Given the description of an element on the screen output the (x, y) to click on. 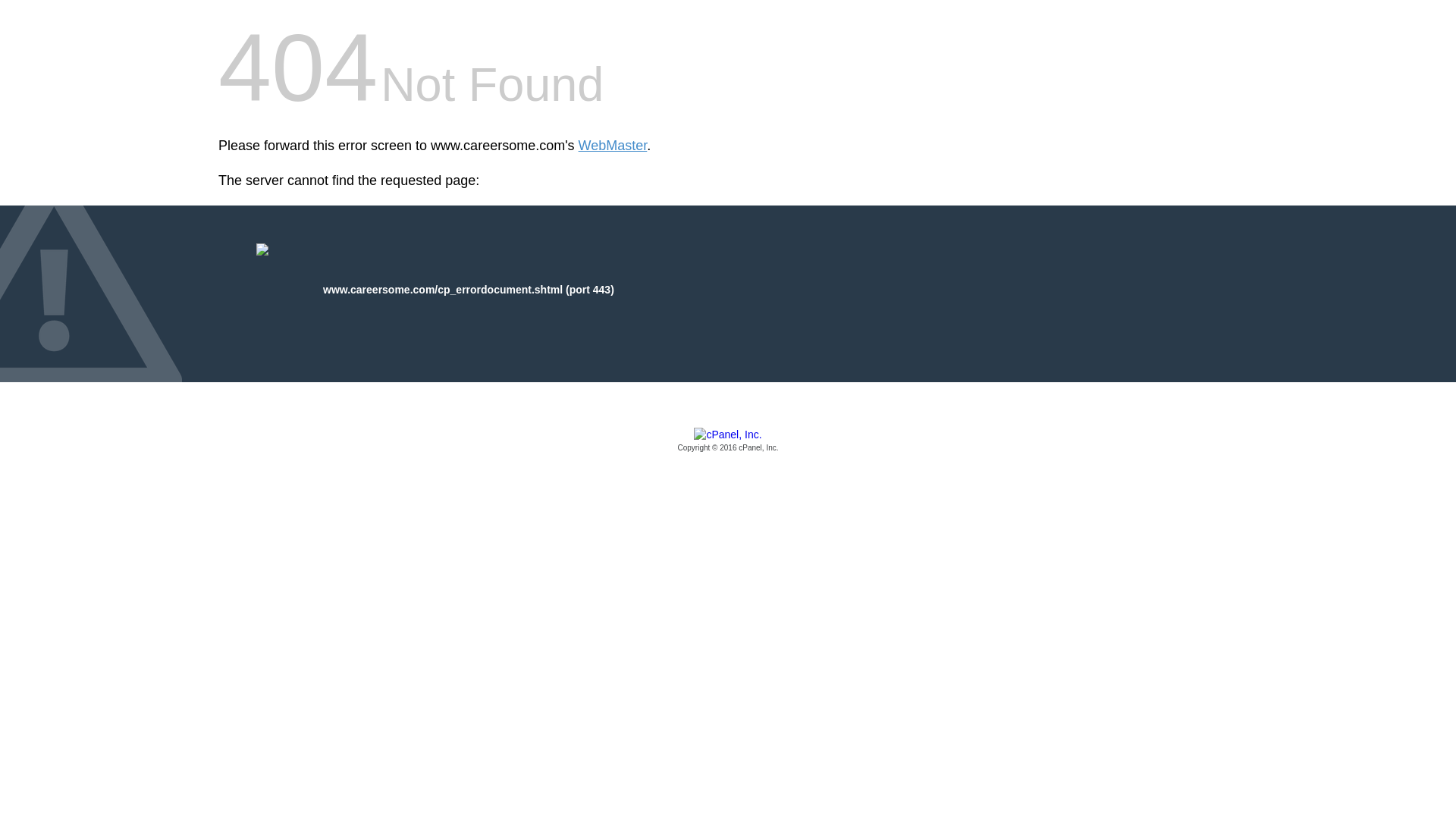
WebMaster (612, 145)
cPanel, Inc. (727, 440)
